Given the description of an element on the screen output the (x, y) to click on. 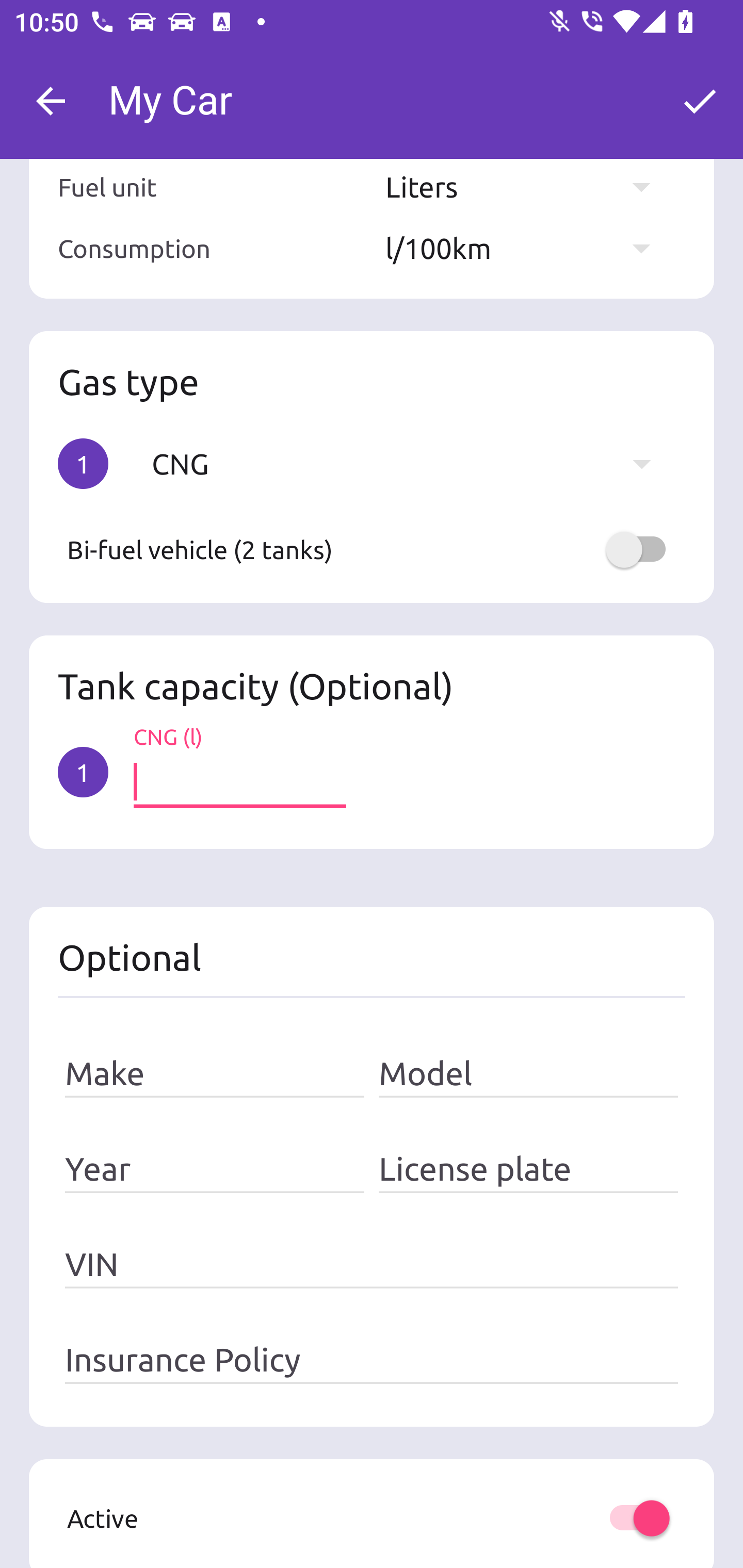
Navigate up (50, 101)
OK (699, 101)
Liters (527, 186)
l/100km (527, 247)
CNG (411, 463)
Bi-fuel vehicle (2 tanks) (371, 549)
CNG (l) (239, 782)
Make (214, 1073)
Model (528, 1073)
Year (214, 1169)
License plate (528, 1169)
VIN (371, 1265)
Insurance Policy (371, 1359)
Active (371, 1518)
